Given the description of an element on the screen output the (x, y) to click on. 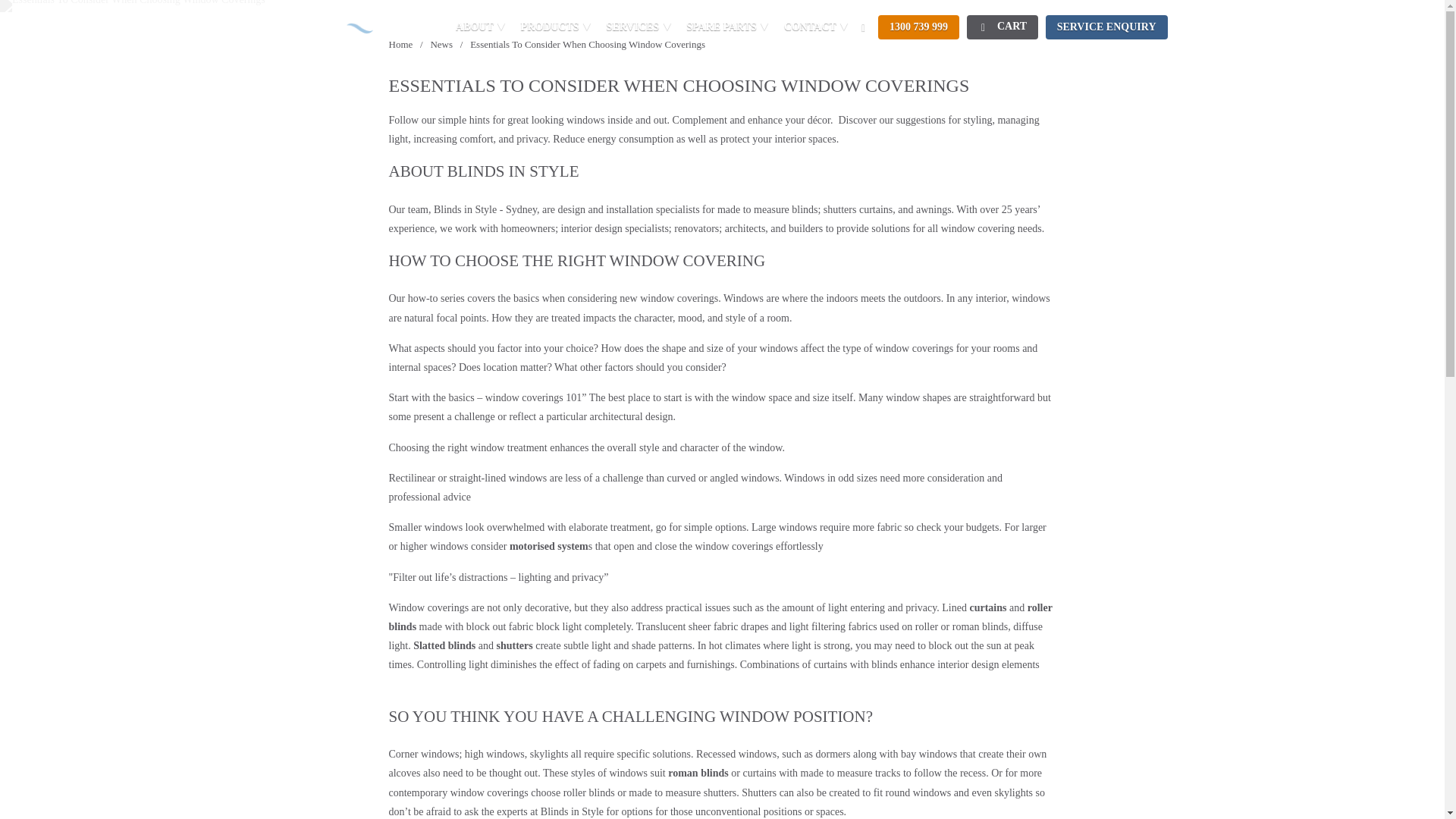
Blinds In Style (400, 43)
Blinds In Style (323, 38)
News (440, 43)
